Given the description of an element on the screen output the (x, y) to click on. 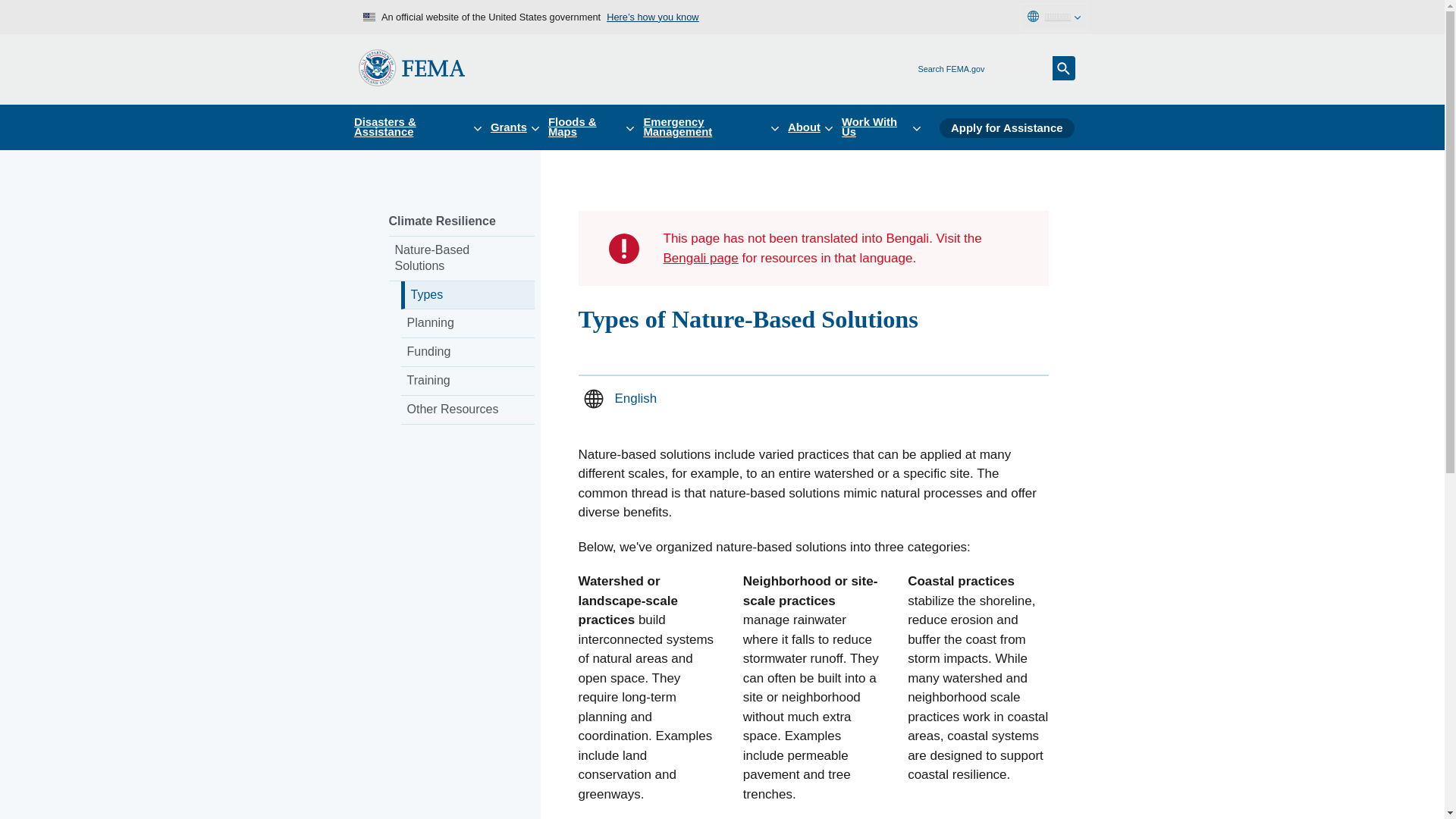
FEMA logo (411, 67)
Search FEMA.gov (1063, 68)
English (635, 398)
Types (467, 295)
About (814, 126)
Emergency Management (715, 126)
Skip to main content (16, 16)
Bengali page (700, 257)
Search FEMA.gov (1063, 68)
Other Resources (467, 410)
Training (467, 380)
Apply for Assistance (1006, 127)
Planning (467, 323)
Climate Resilience (461, 222)
Nature-Based Solutions (461, 258)
